Given the description of an element on the screen output the (x, y) to click on. 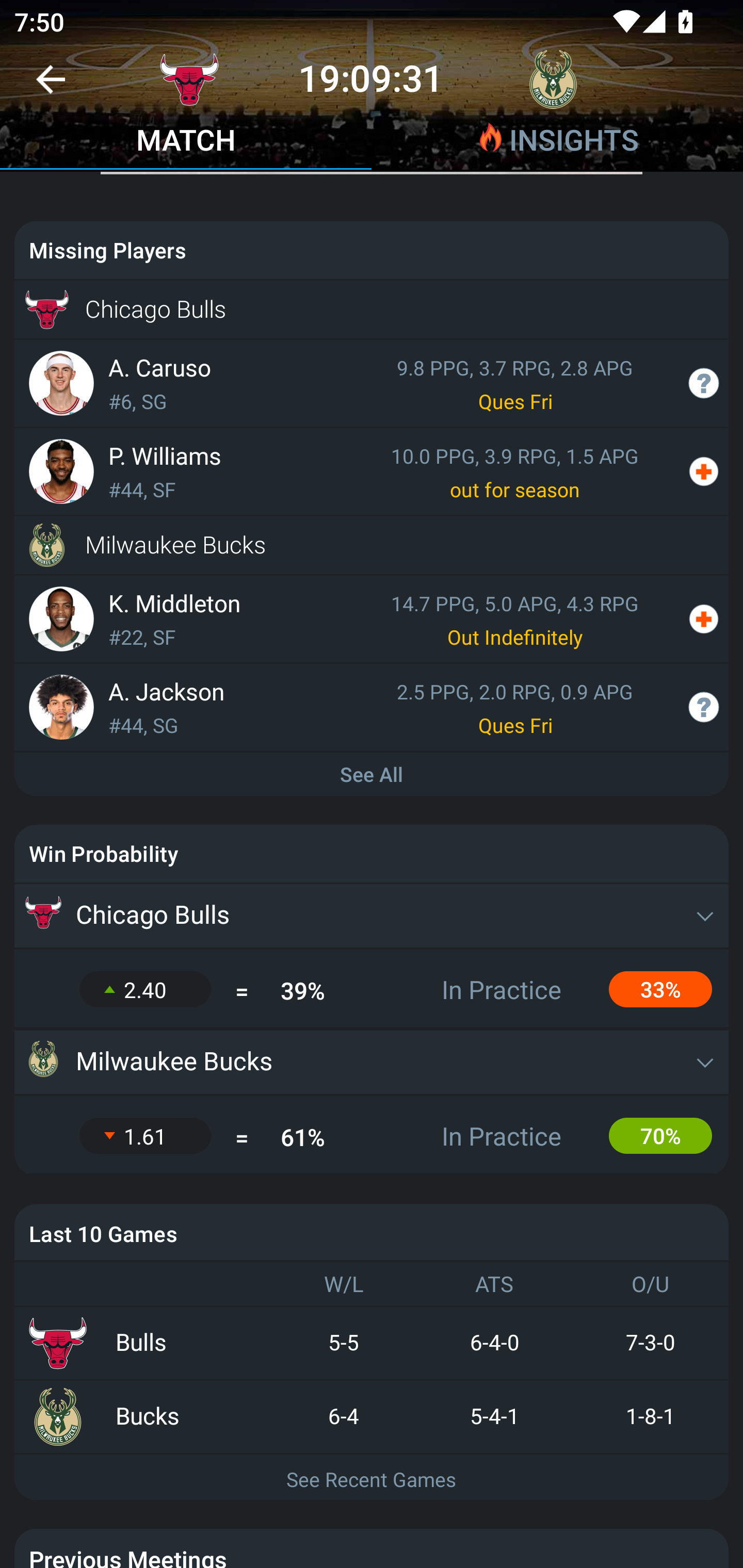
Navigate up (50, 86)
MATCH (185, 142)
INSIGHTS (557, 142)
Missing Players (371, 250)
Chicago Bulls (371, 309)
Milwaukee Bucks (371, 544)
See All (371, 774)
Win Probability (371, 853)
Chicago Bulls (371, 915)
Milwaukee Bucks (371, 1062)
Bulls 5-5 6-4-0 7-3-0 (371, 1343)
Bucks 6-4 5-4-1 1-8-1 (371, 1417)
See Recent Games (371, 1477)
